Given the description of an element on the screen output the (x, y) to click on. 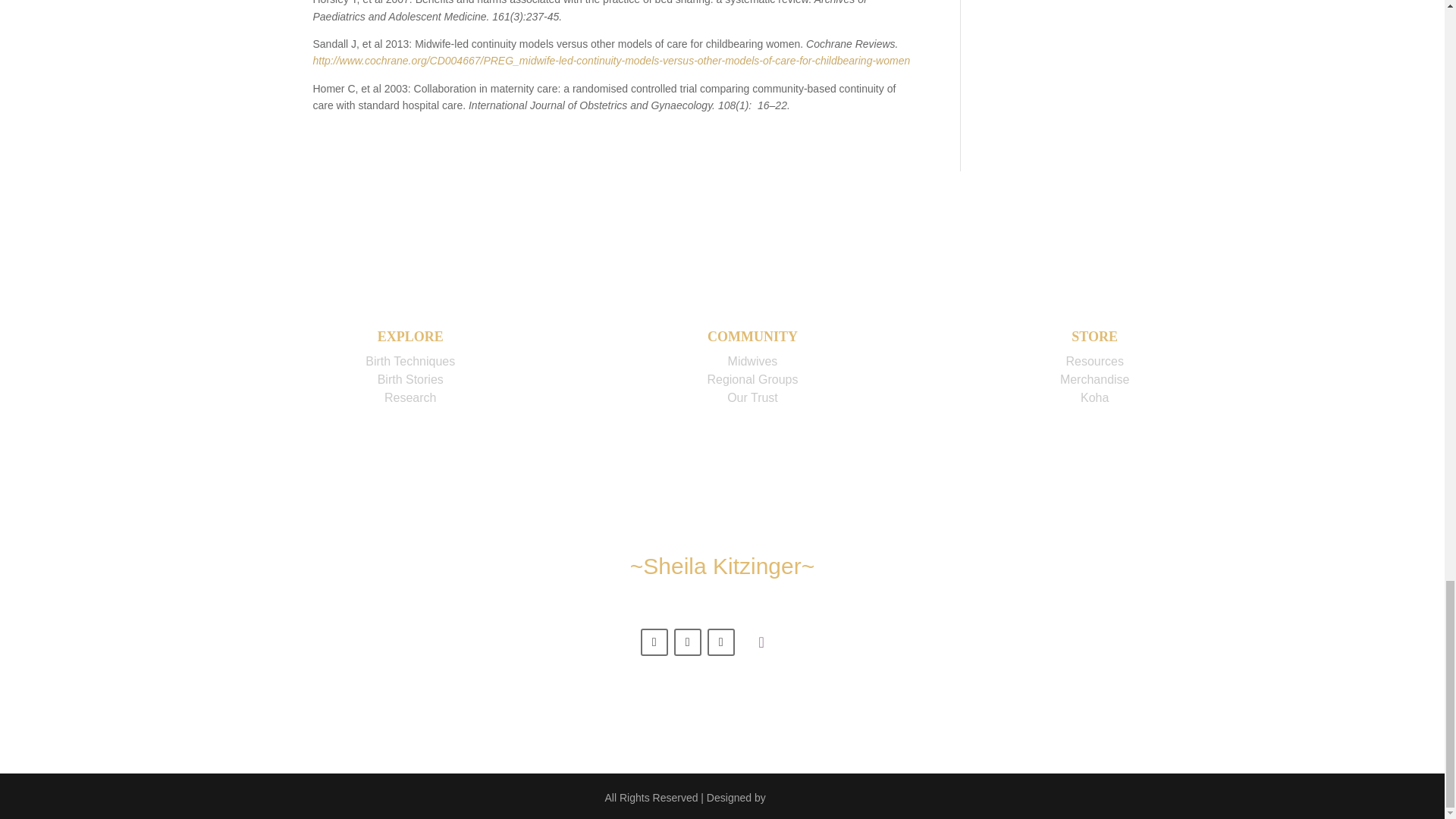
Birth Techniques (409, 360)
Follow on Facebook (654, 642)
Follow on Pinterest (687, 642)
Follow on Instagram (721, 642)
Birth Culture in NZ header (761, 644)
Birth Stories (410, 379)
